Given the description of an element on the screen output the (x, y) to click on. 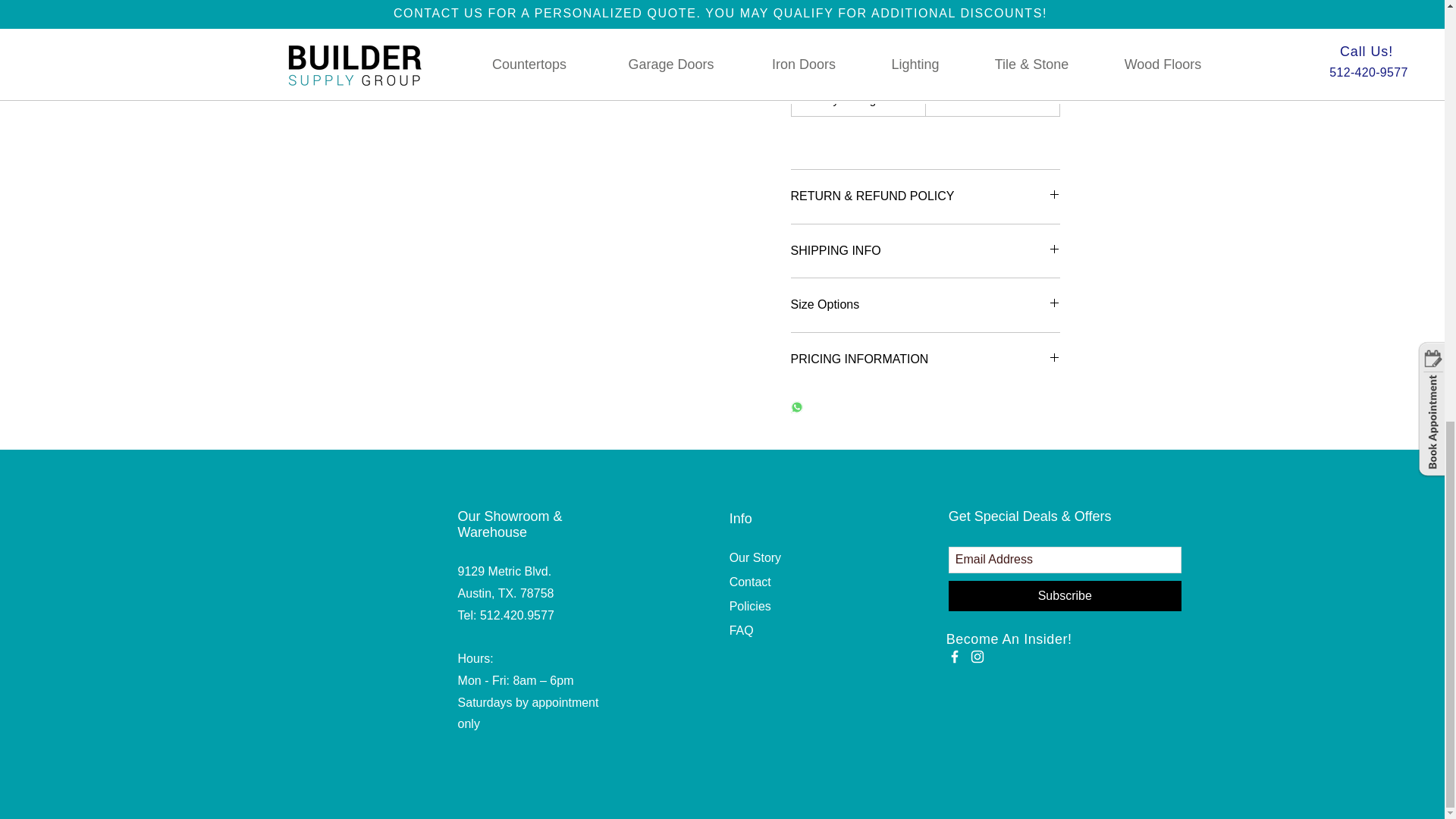
Contact (750, 581)
Our Story (754, 557)
Size Options (924, 304)
Subscribe (1064, 595)
PRICING INFORMATION (924, 359)
SHIPPING INFO (924, 250)
